Given the description of an element on the screen output the (x, y) to click on. 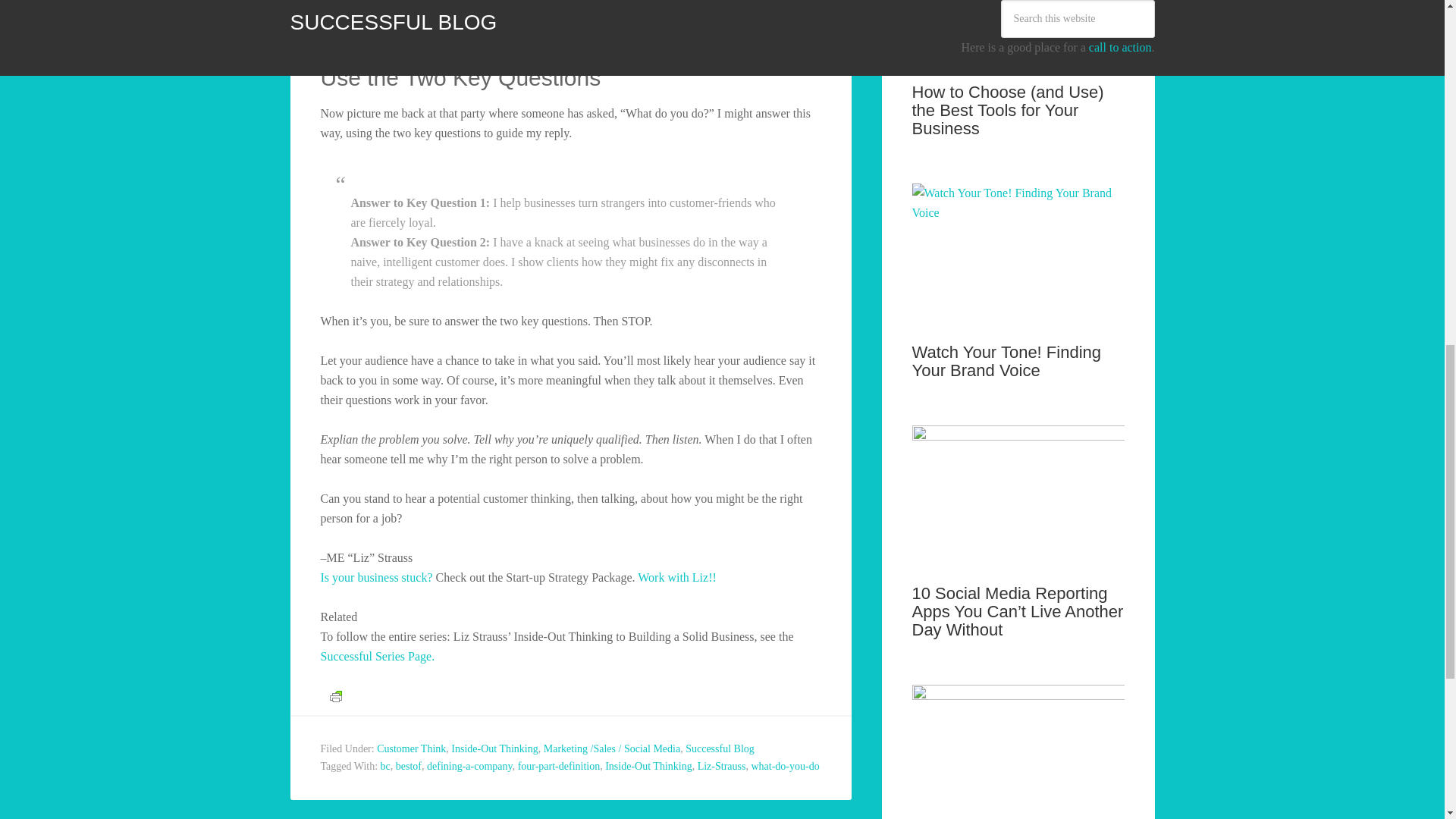
Inside-Out Thinking (494, 748)
Successful Series Page. (376, 656)
Is your business stuck? (376, 576)
what-do-you-do (784, 766)
Successful Blog (719, 748)
bestof (409, 766)
defining-a-company (469, 766)
Watch Your Tone! Finding Your Brand Voice (1005, 361)
Customer Think (411, 748)
four-part-definition (558, 766)
Work with Liz!! (676, 576)
Inside-Out Thinking (648, 766)
Liz-Strauss (721, 766)
